Given the description of an element on the screen output the (x, y) to click on. 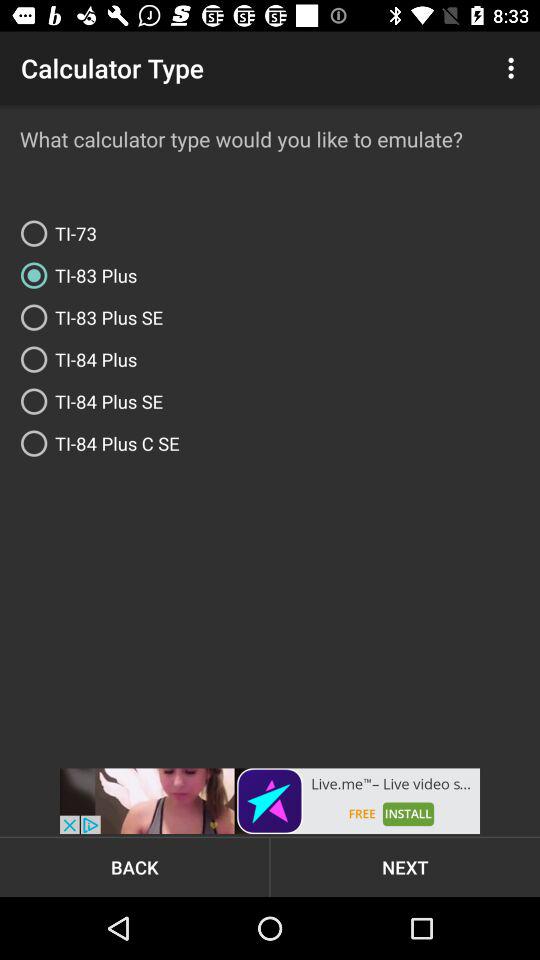
advertisements (270, 801)
